Given the description of an element on the screen output the (x, y) to click on. 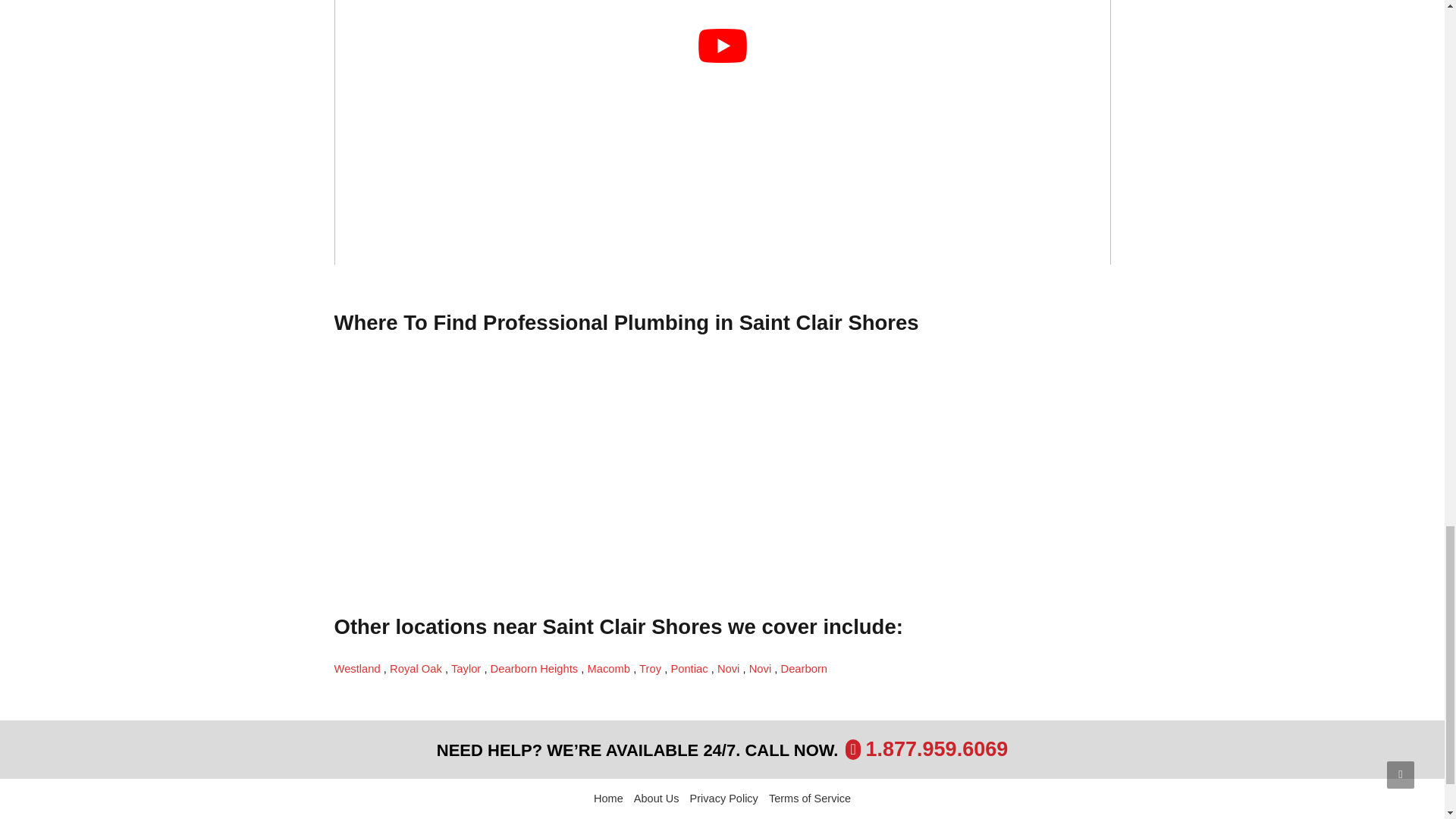
Terms of Service (809, 799)
Emergency Plumber Westland (357, 668)
Emergency Plumber in Pontiac, MI (689, 668)
Macomb (609, 668)
Privacy Policy (724, 799)
Emergency Plumber Novi, MI (761, 668)
Emergency Plumber in Novi, MI (729, 668)
Dearborn Heights (535, 668)
Emergency Plumber in Dearborn, MI (804, 668)
1.877.959.6069 (937, 748)
Pontiac (689, 668)
Troy (651, 668)
Novi (729, 668)
Emergency Plumber in Taylor, MI (467, 668)
